Given the description of an element on the screen output the (x, y) to click on. 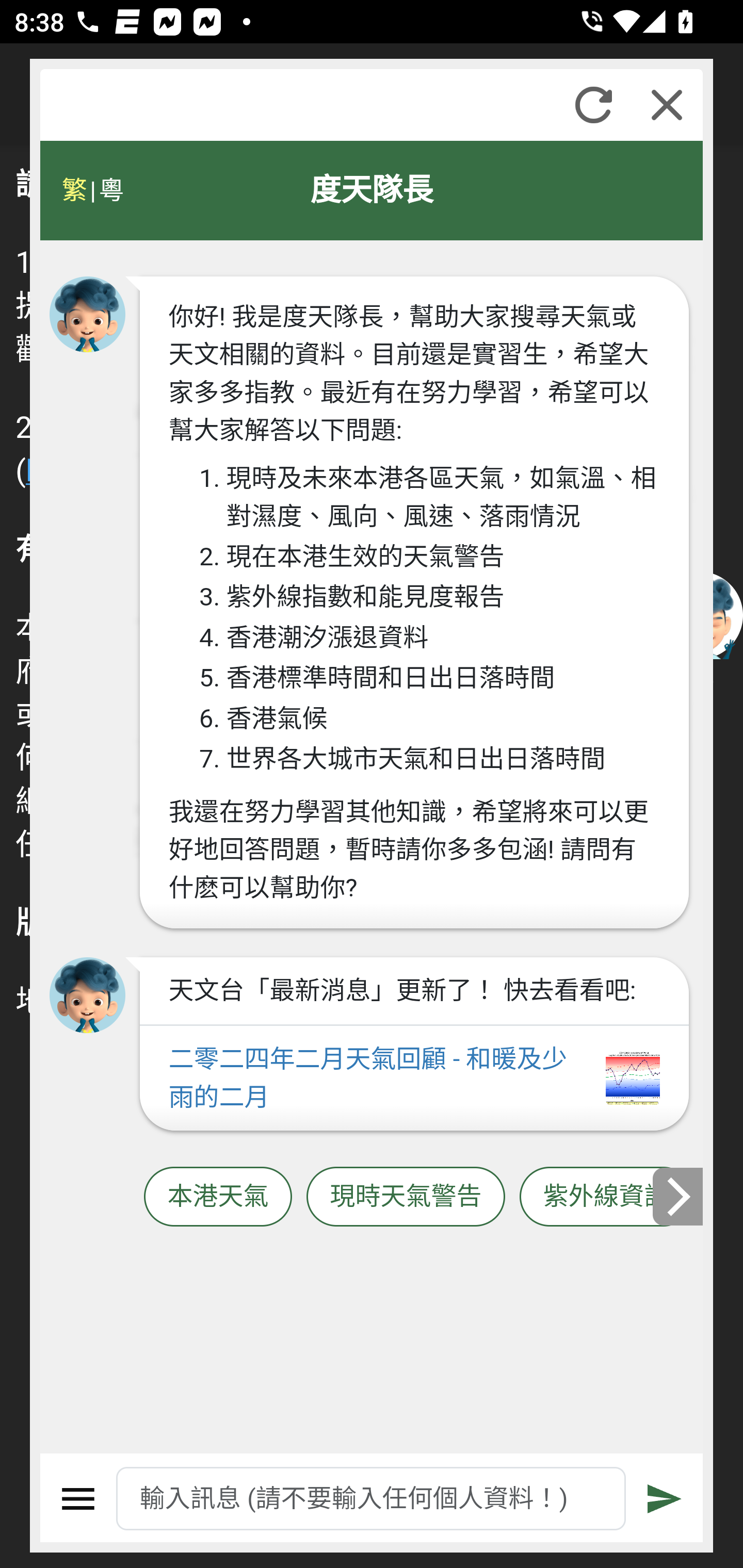
重新整理 (593, 104)
關閉 (666, 104)
繁 (73, 190)
粵 (110, 190)
二零二四年二月天氣回顧 - 和暖及少雨的二月 (413, 1078)
本港天氣 (217, 1196)
現時天氣警告 (405, 1196)
紫外線資訊 (605, 1196)
下一張 (678, 1196)
選單 (78, 1498)
遞交 (665, 1498)
